Given the description of an element on the screen output the (x, y) to click on. 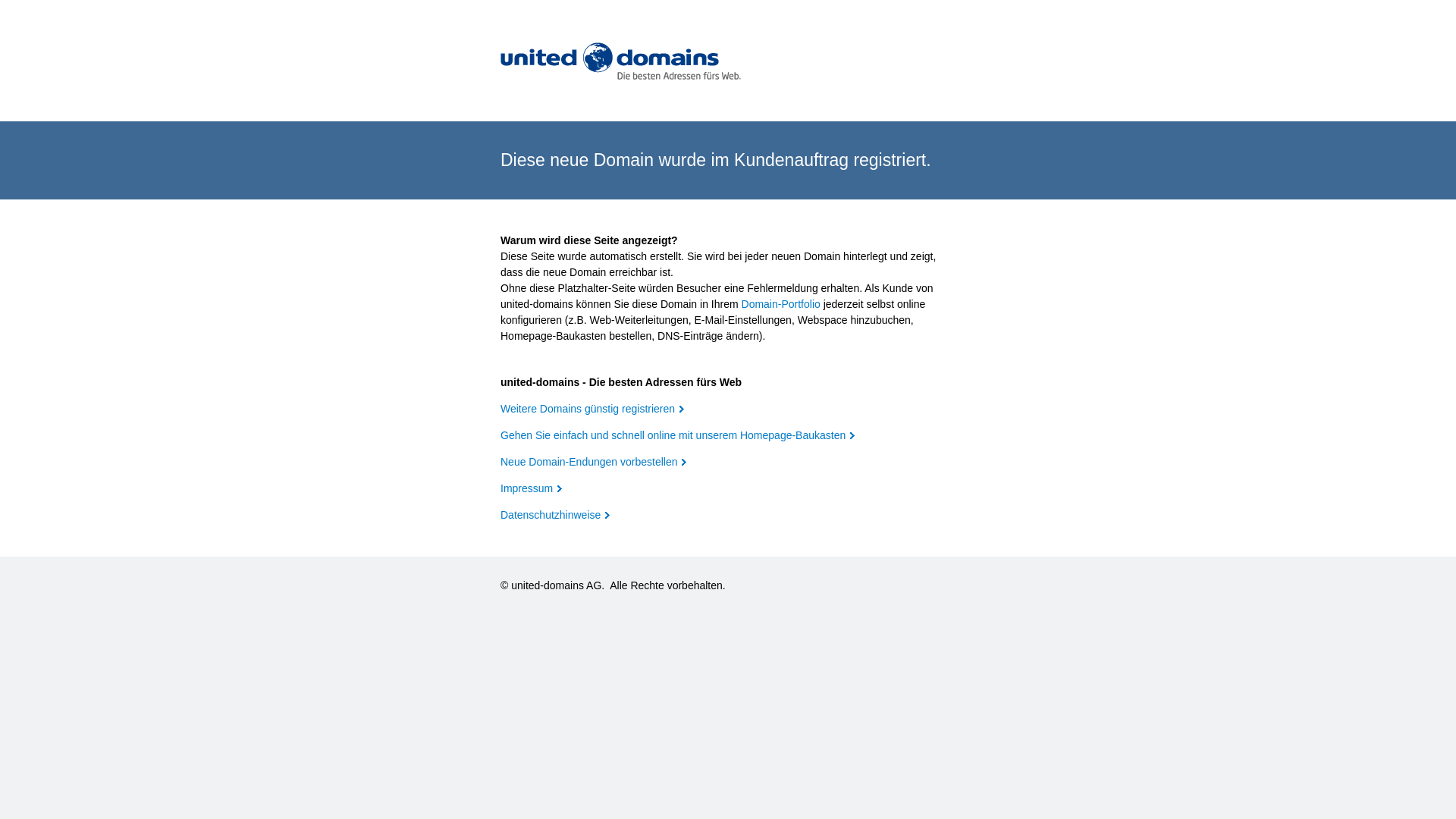
Neue Domain-Endungen vorbestellen Element type: text (593, 461)
Datenschutzhinweise Element type: text (554, 514)
Impressum Element type: text (530, 488)
Domain-Portfolio Element type: text (780, 304)
